Given the description of an element on the screen output the (x, y) to click on. 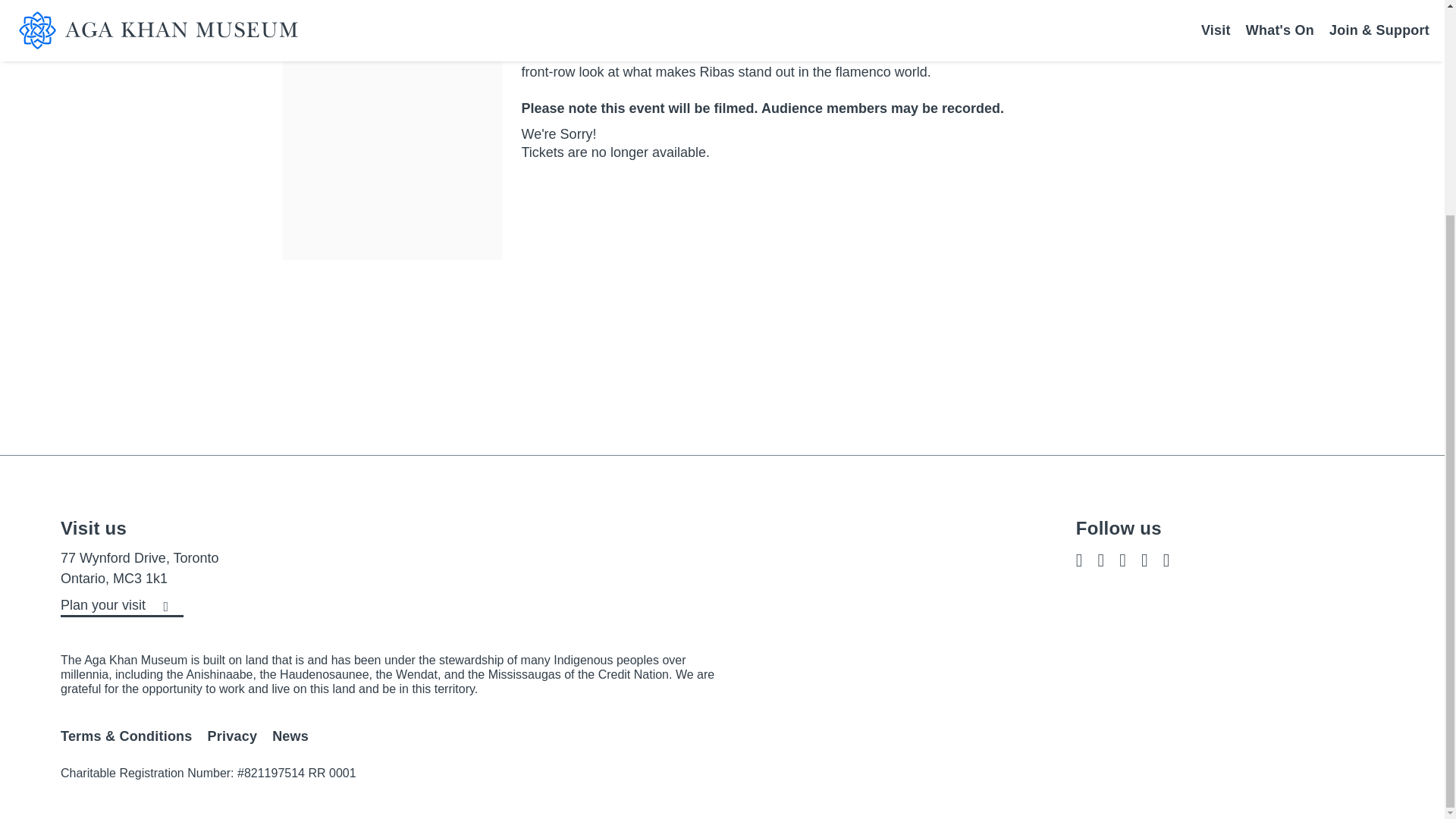
Plan your visit (122, 607)
News (290, 735)
Privacy (232, 735)
